Given the description of an element on the screen output the (x, y) to click on. 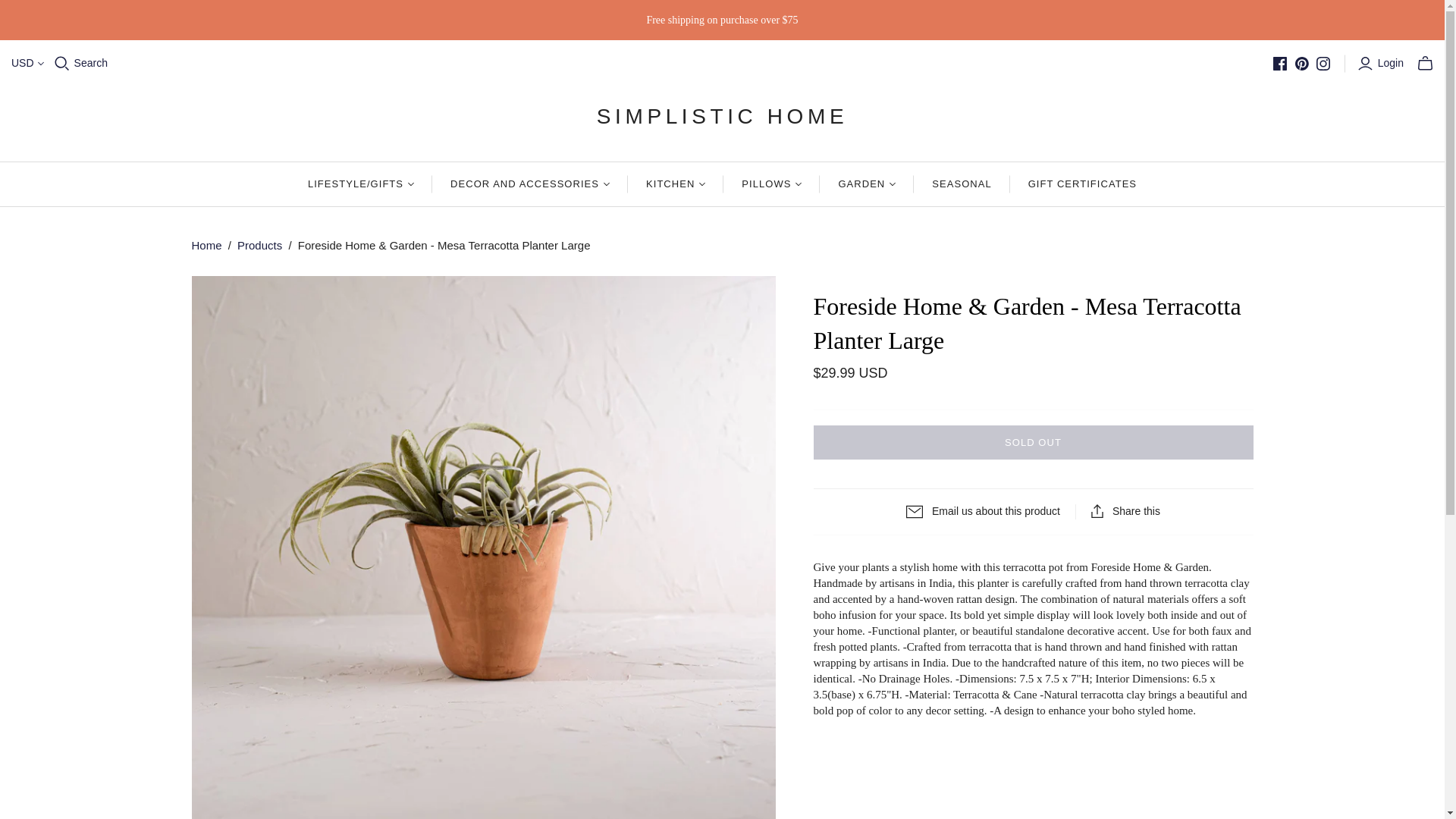
KITCHEN (675, 184)
Login (1381, 63)
SIMPLISTIC HOME (721, 116)
PILLOWS (771, 184)
DECOR AND ACCESSORIES (529, 184)
